Given the description of an element on the screen output the (x, y) to click on. 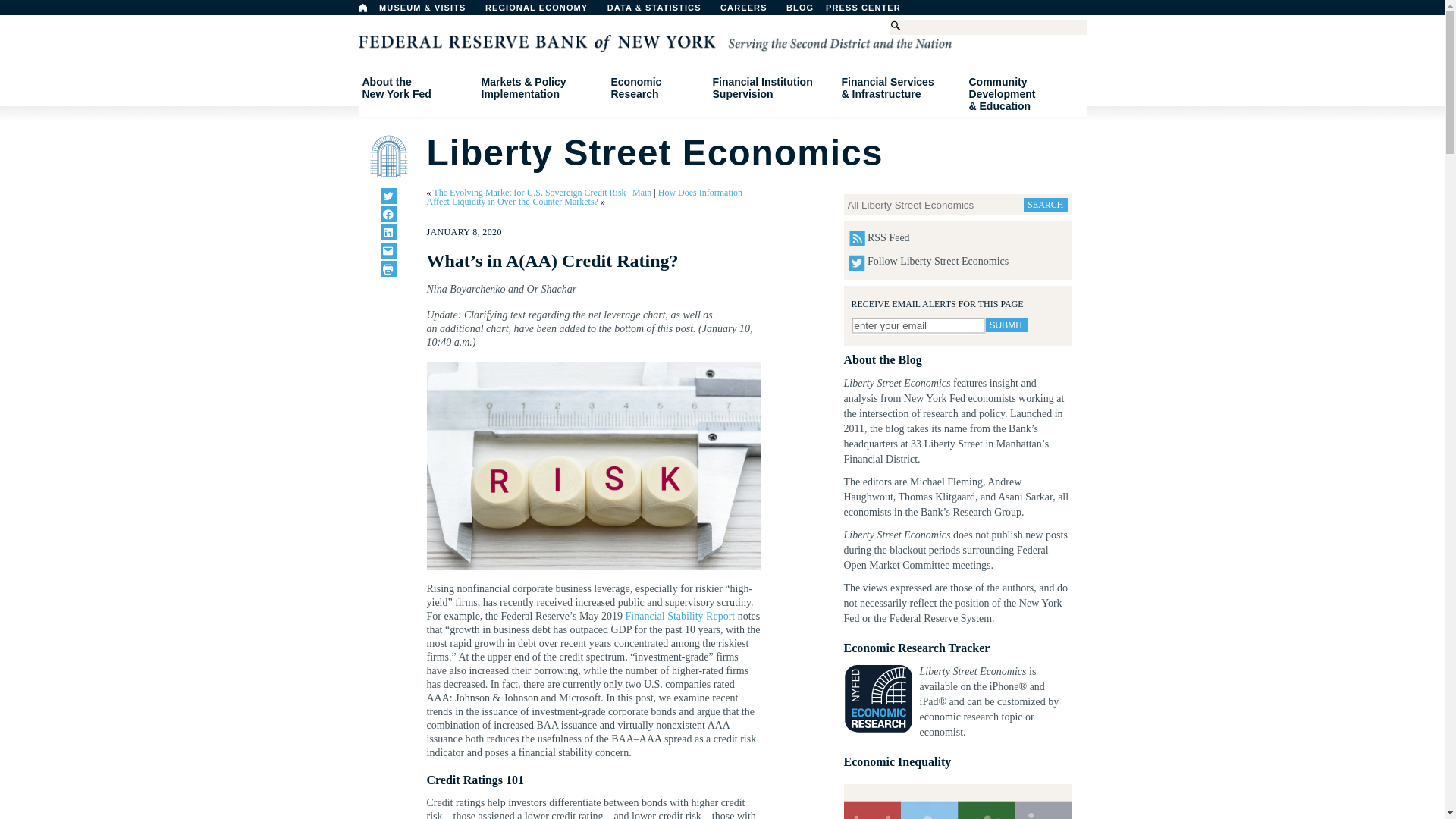
PRESS CENTER (870, 11)
Home (362, 8)
Click to email a link to a friend (388, 250)
Click to print (388, 268)
enter your email (917, 325)
Click to share on LinkedIn (388, 232)
BLOG (839, 11)
REGIONAL ECONOMY (415, 87)
Click to share on Twitter (543, 11)
